Given the description of an element on the screen output the (x, y) to click on. 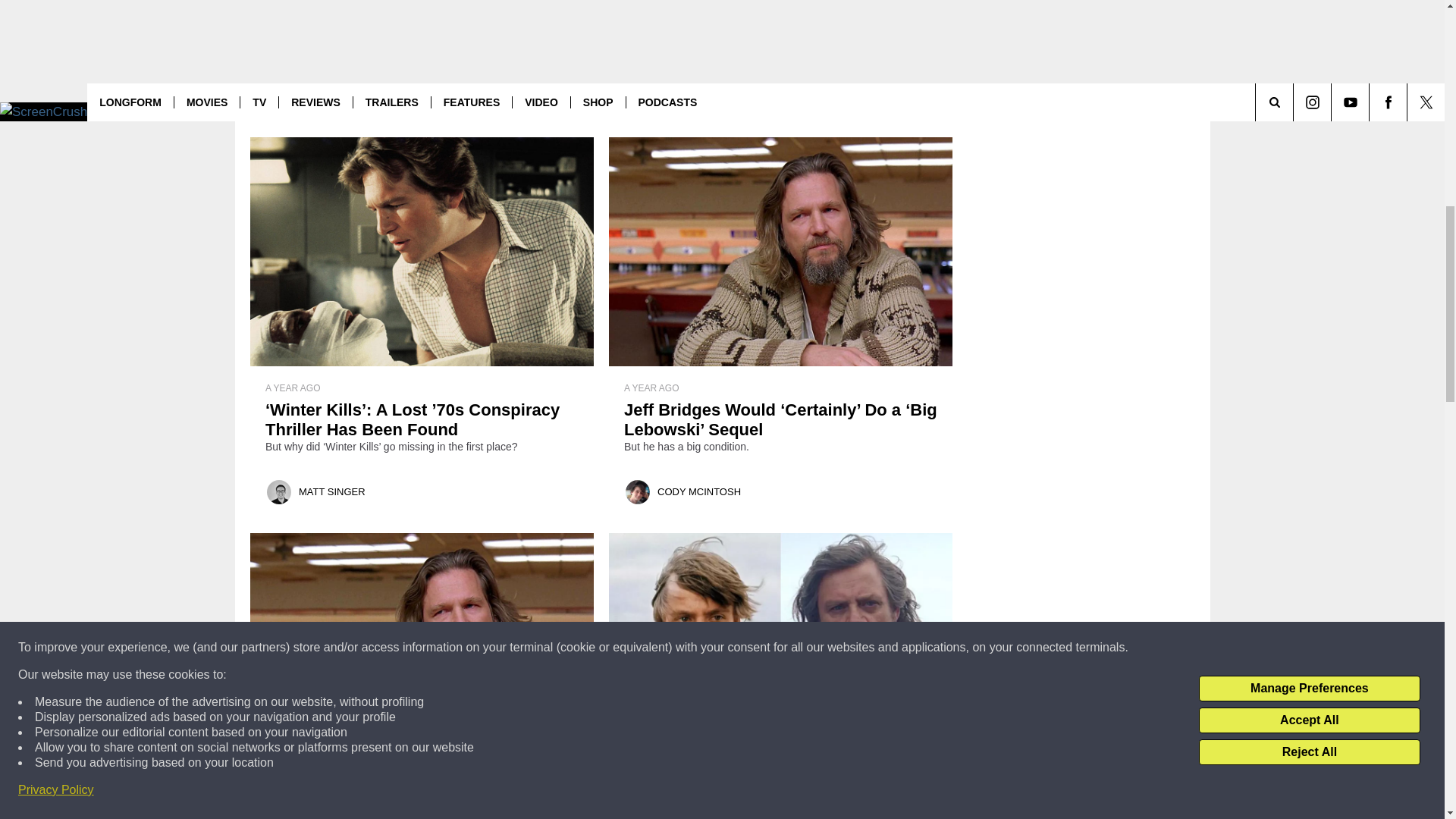
13 Actors Who Returned To Iconic Roles Decades Later (779, 807)
The Giver (471, 78)
MATT SINGER (331, 491)
CODY MCINTOSH (697, 491)
Matt Singer (278, 491)
Seventh Son (548, 78)
Cody Mcintosh (636, 491)
